Given the description of an element on the screen output the (x, y) to click on. 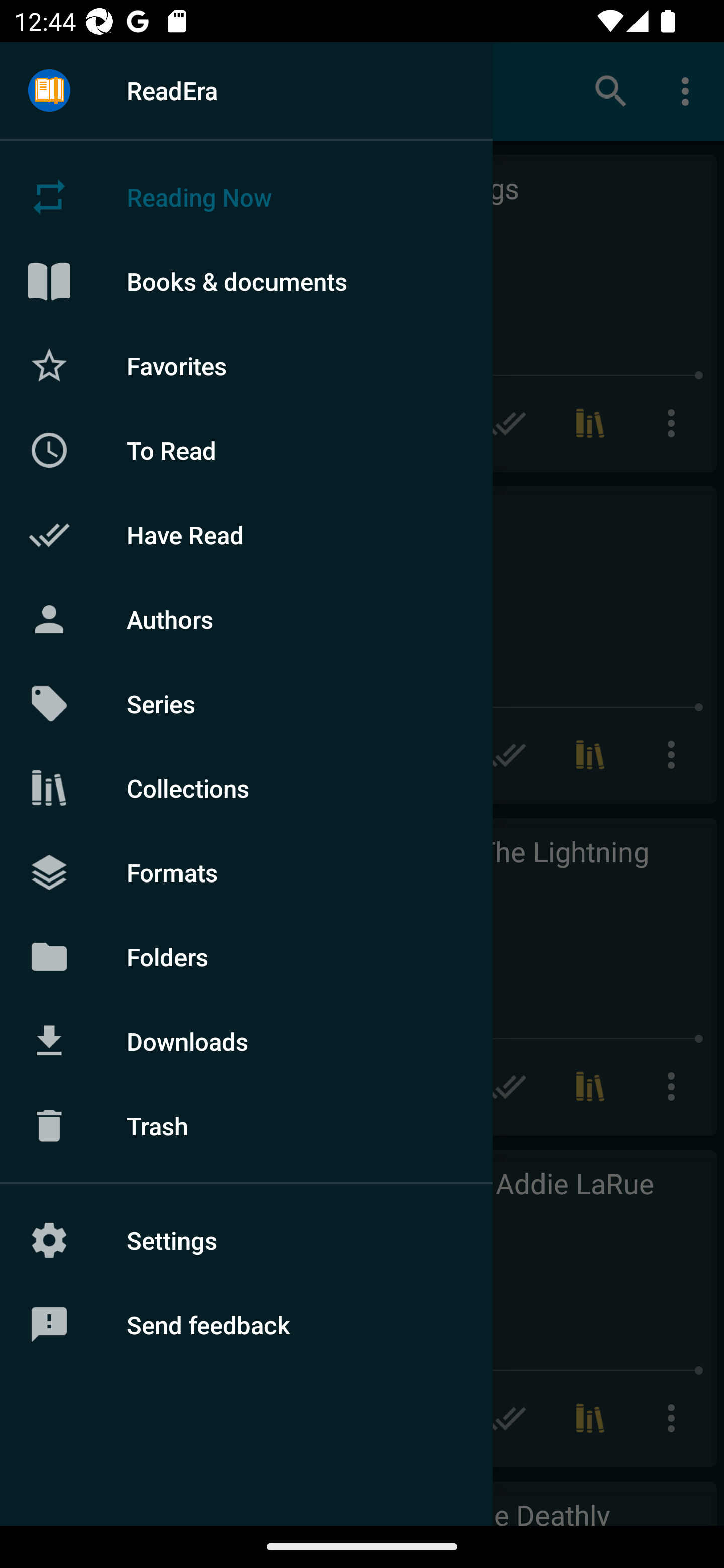
Menu (49, 91)
ReadEra (246, 89)
Search books & documents (611, 90)
More options (688, 90)
Reading Now (246, 197)
Books & documents (246, 281)
Favorites (246, 365)
To Read (246, 449)
Have Read (246, 534)
Authors (246, 619)
Series (246, 703)
Collections (246, 787)
Formats (246, 871)
Folders (246, 956)
Downloads (246, 1040)
Trash (246, 1125)
Settings (246, 1239)
Send feedback (246, 1324)
